Given the description of an element on the screen output the (x, y) to click on. 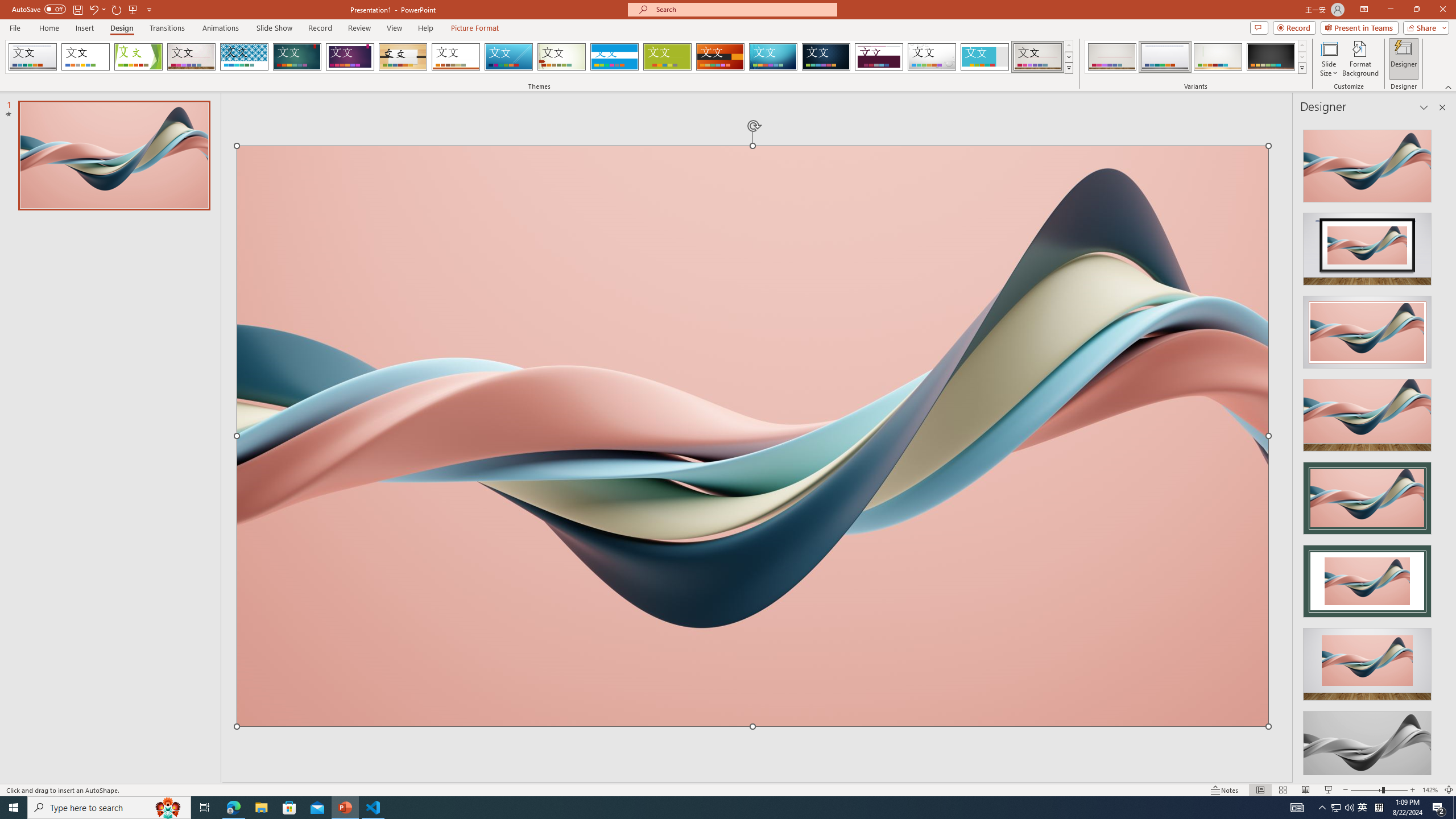
Banded (614, 56)
AutomationID: ThemeVariantsGallery (1195, 56)
